Given the description of an element on the screen output the (x, y) to click on. 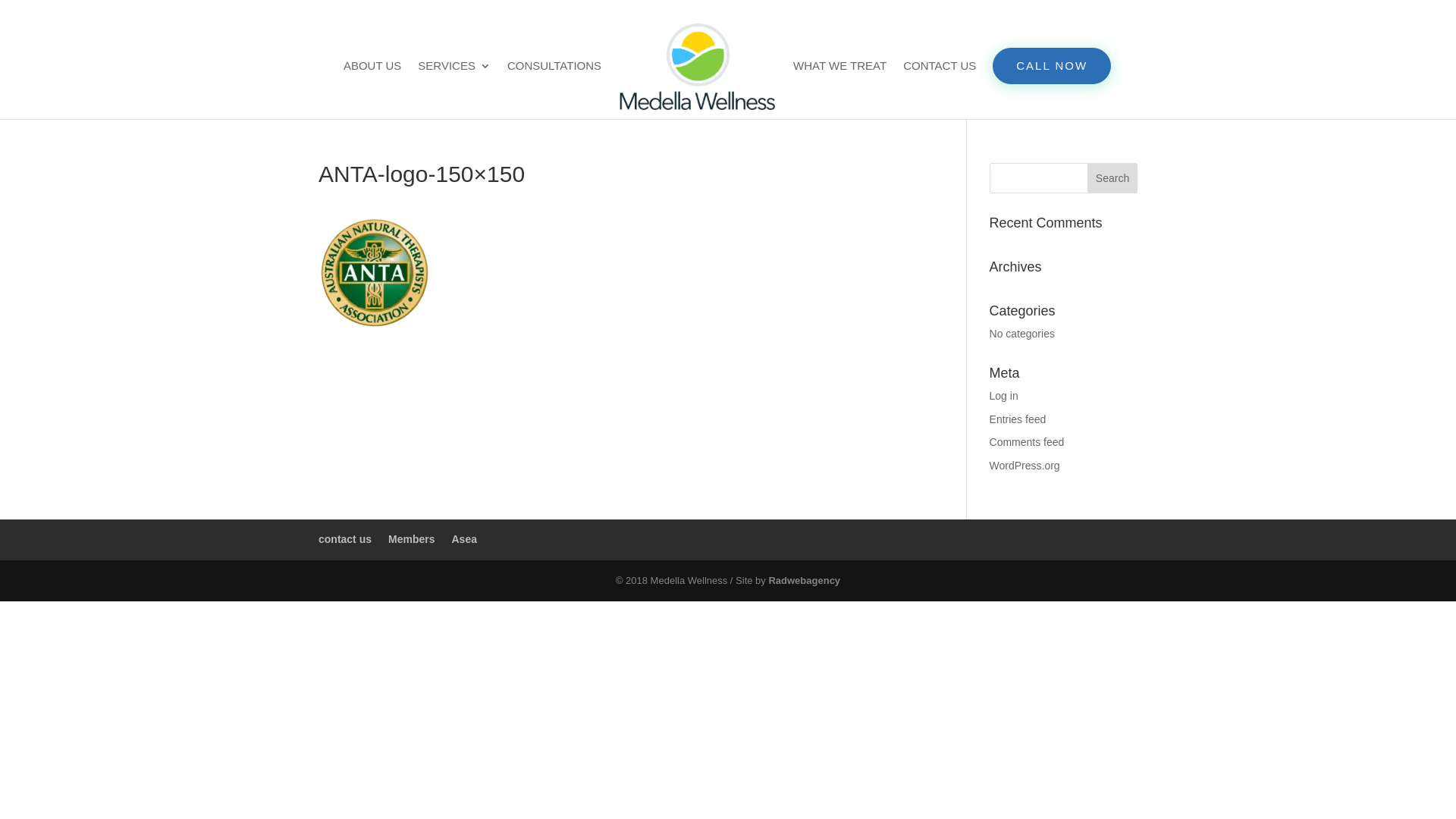
ABOUT US Element type: text (372, 89)
Radwebagency Element type: text (804, 580)
Entries feed Element type: text (1017, 419)
Asea Element type: text (463, 539)
WHAT WE TREAT Element type: text (839, 89)
Log in Element type: text (1003, 395)
Members Element type: text (411, 539)
contact us Element type: text (344, 539)
SERVICES Element type: text (453, 89)
CONTACT US Element type: text (939, 89)
Comments feed Element type: text (1026, 442)
WordPress.org Element type: text (1024, 465)
CONSULTATIONS Element type: text (554, 89)
CALL NOW Element type: text (1051, 65)
Search Element type: text (1112, 178)
